Given the description of an element on the screen output the (x, y) to click on. 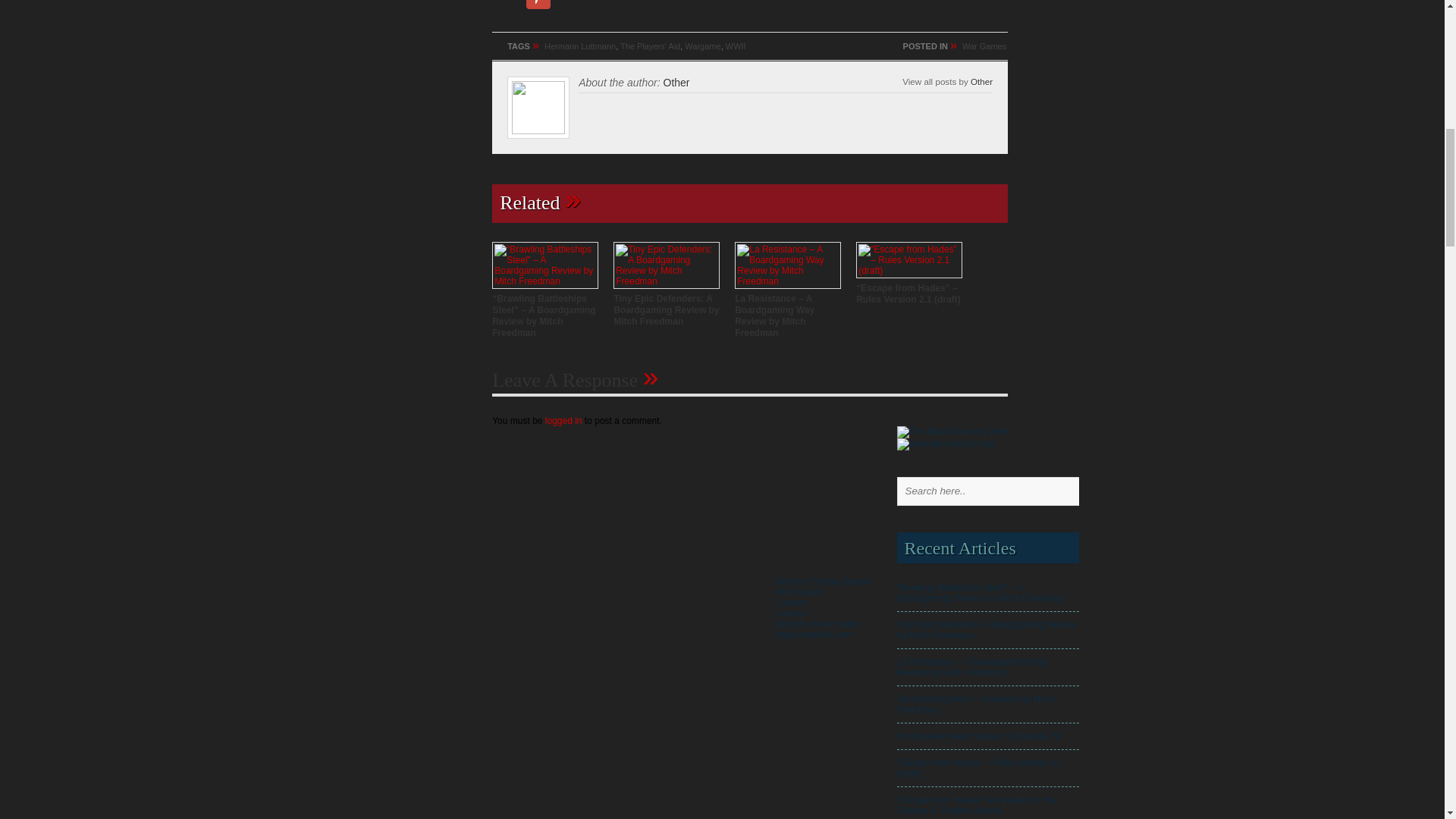
Search here.. (996, 490)
Tiny Epic Defenders: A Boardgaming Review by Mitch Freedman (665, 309)
Tiny Epic Defenders: A Boardgaming Review by Mitch Freedman (665, 281)
logged in (563, 420)
The Players' Aid (649, 45)
Hermann Luttmann (579, 45)
War Games (984, 45)
Posts by Other (981, 81)
WWII (735, 45)
Tiny Epic Defenders: A Boardgaming Review by Mitch Freedman (665, 309)
